Given the description of an element on the screen output the (x, y) to click on. 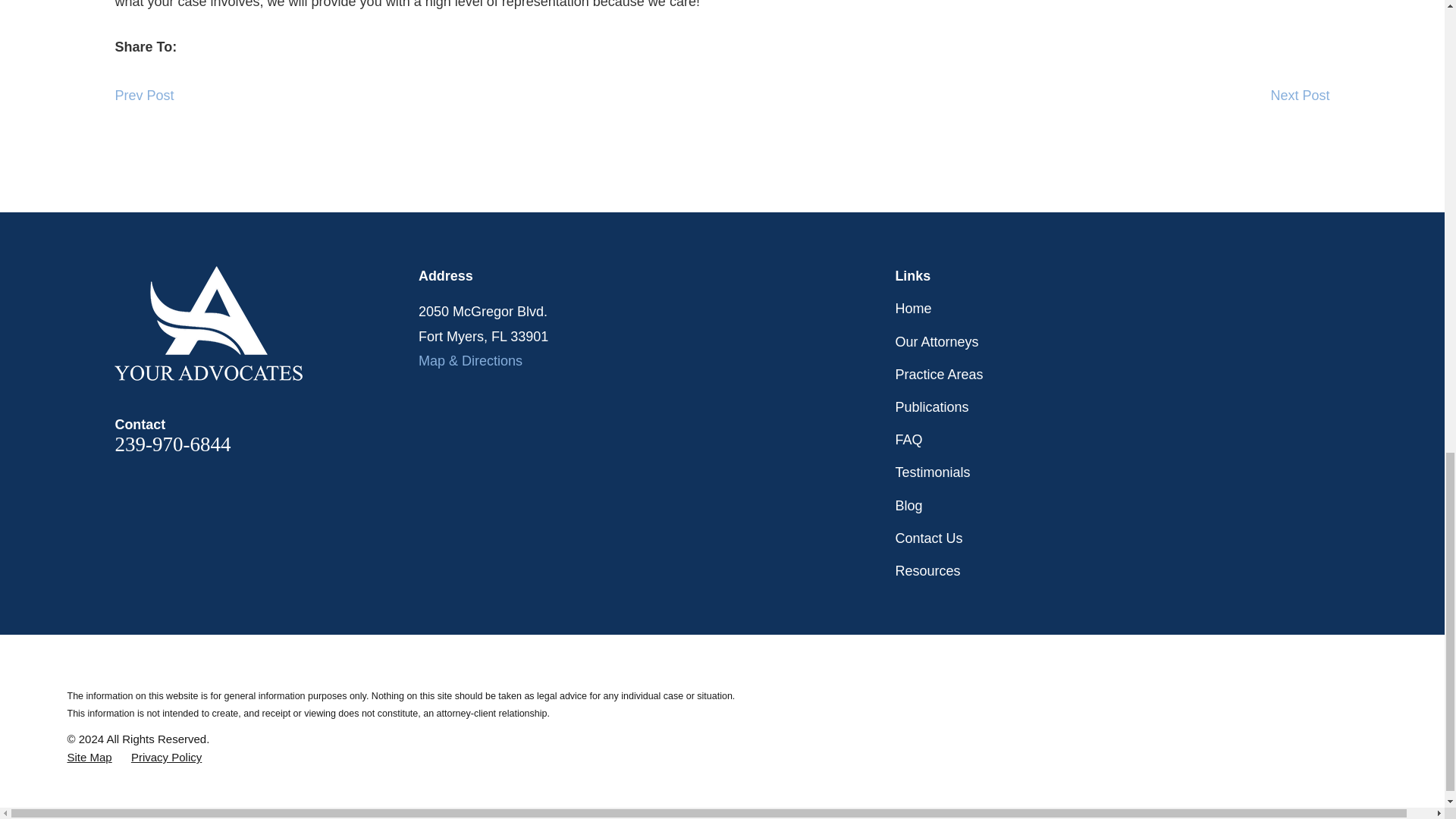
Your Advocates (208, 323)
Home (267, 323)
